Given the description of an element on the screen output the (x, y) to click on. 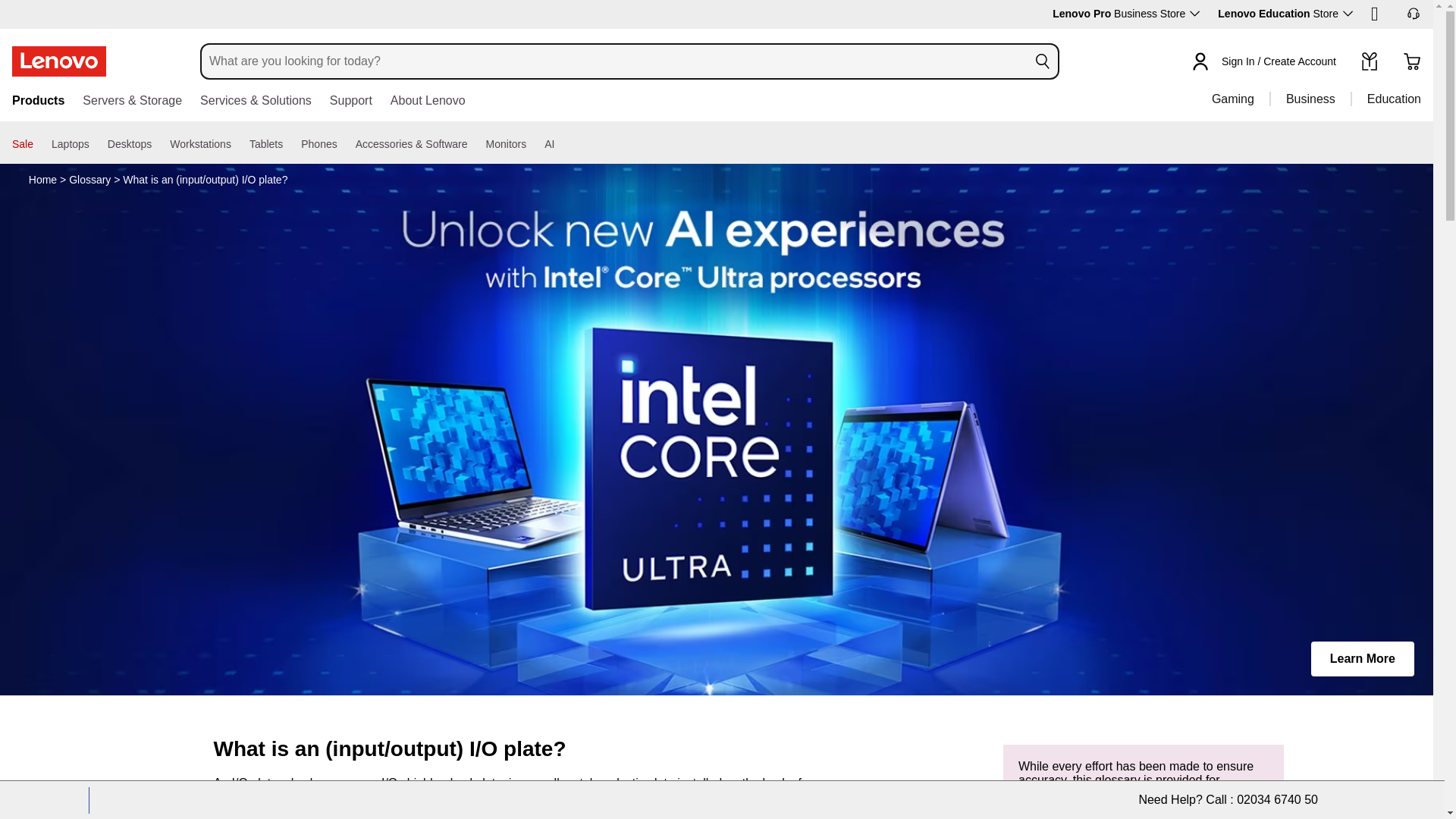
Lenovo Education Store (1284, 13)
Home (42, 179)
Sale (22, 144)
Monitors (506, 144)
Lenovo Pro Business Store (1125, 13)
About Lenovo (427, 102)
Learn More (1362, 658)
Support (351, 102)
Phones (318, 144)
Tablets (265, 144)
Education (1386, 98)
Products (37, 102)
Glossary (89, 179)
Business (1310, 98)
Laptops (69, 144)
